Given the description of an element on the screen output the (x, y) to click on. 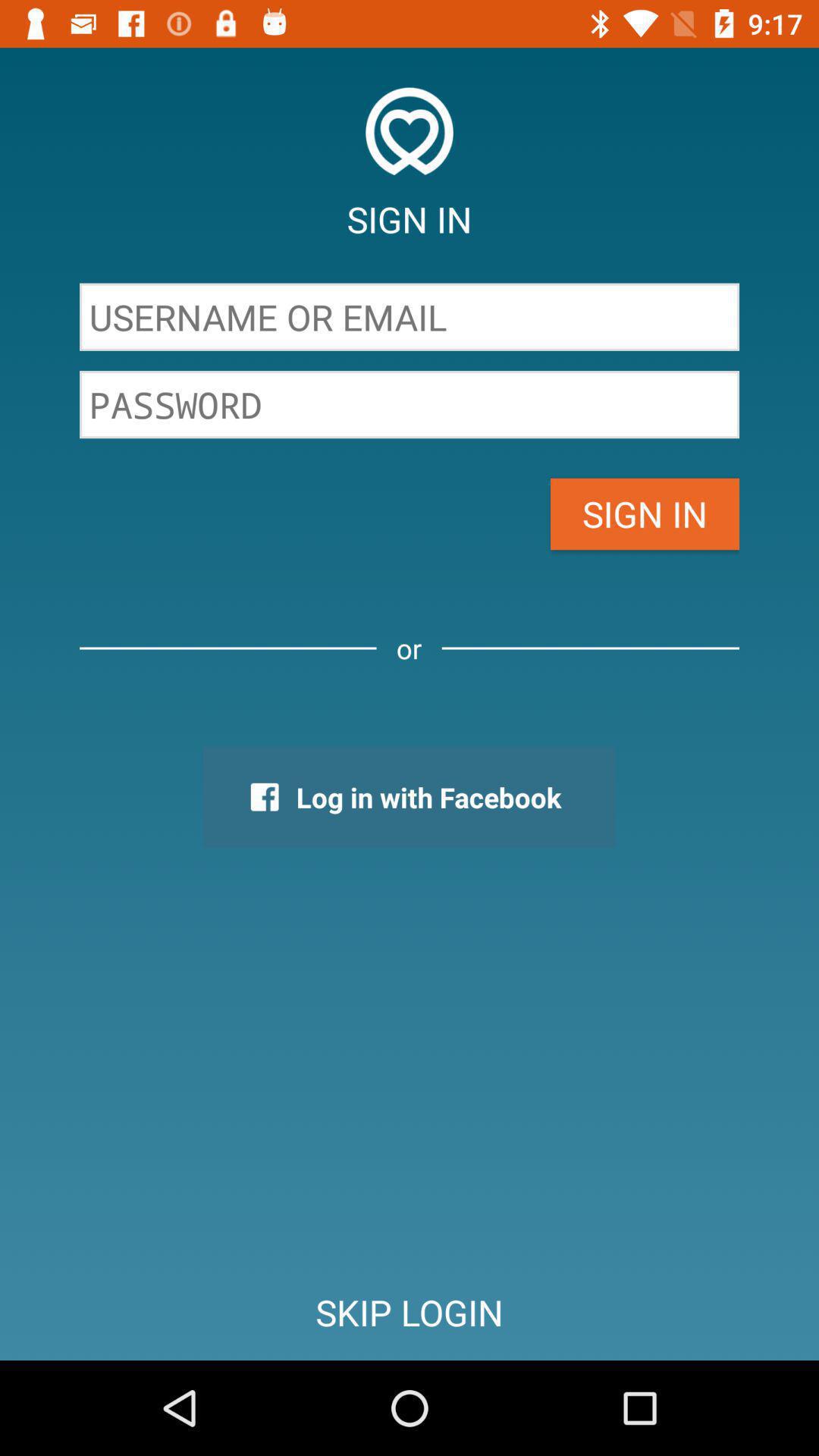
turn off icon below the log in with item (409, 1312)
